Given the description of an element on the screen output the (x, y) to click on. 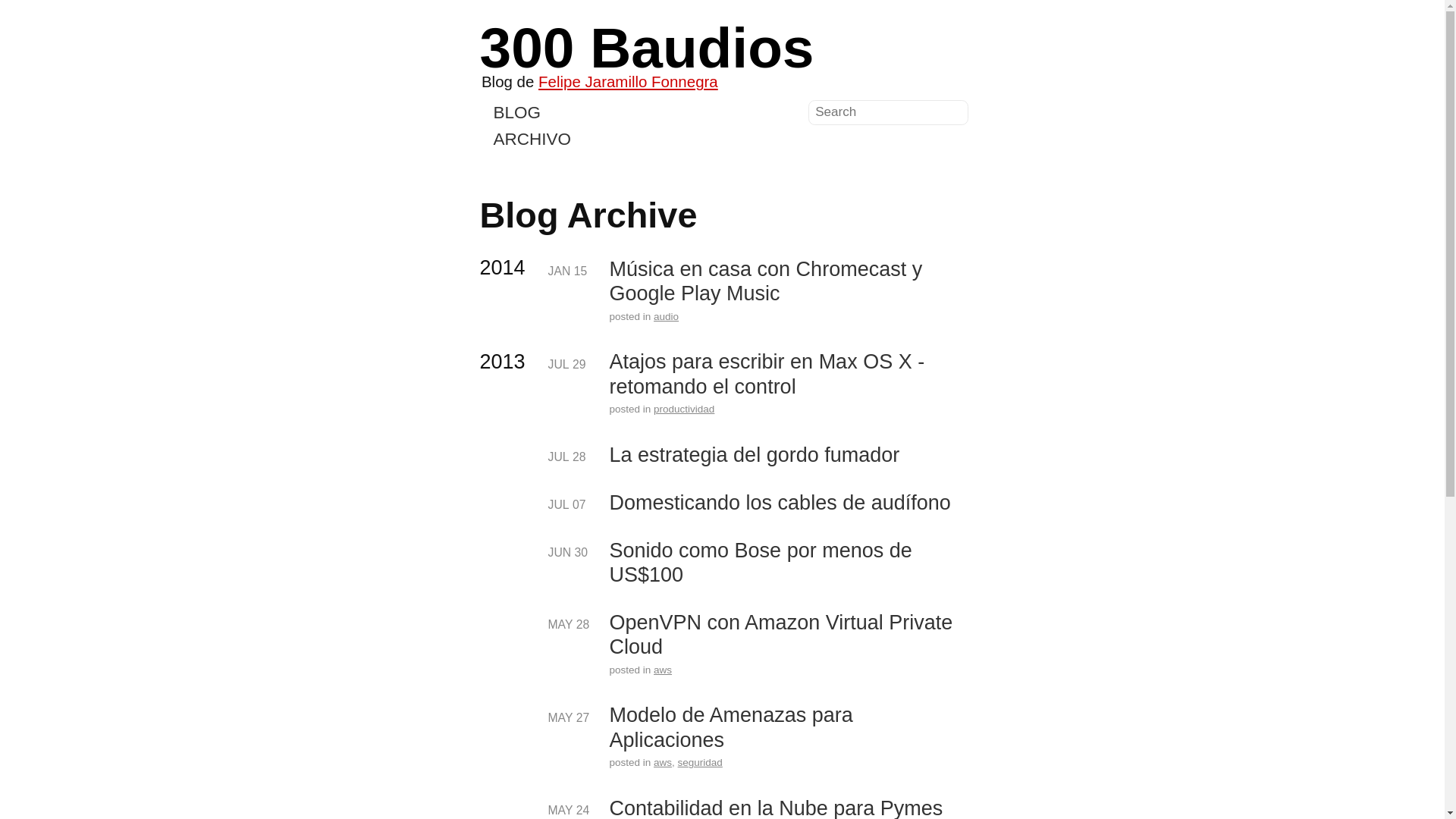
OpenVPN con Amazon Virtual Private Cloud Element type: text (787, 634)
300 Baudios Element type: text (646, 47)
aws Element type: text (662, 669)
Atajos para escribir en Max OS X - retomando el control Element type: text (787, 373)
seguridad Element type: text (699, 762)
Sonido como Bose por menos de US$100 Element type: text (787, 562)
aws Element type: text (662, 762)
La estrategia del gordo fumador Element type: text (754, 454)
BLOG Element type: text (516, 113)
productividad Element type: text (683, 408)
Felipe Jaramillo Fonnegra Element type: text (628, 81)
ARCHIVO Element type: text (531, 139)
Modelo de Amenazas para Aplicaciones Element type: text (787, 727)
audio Element type: text (665, 316)
